Given the description of an element on the screen output the (x, y) to click on. 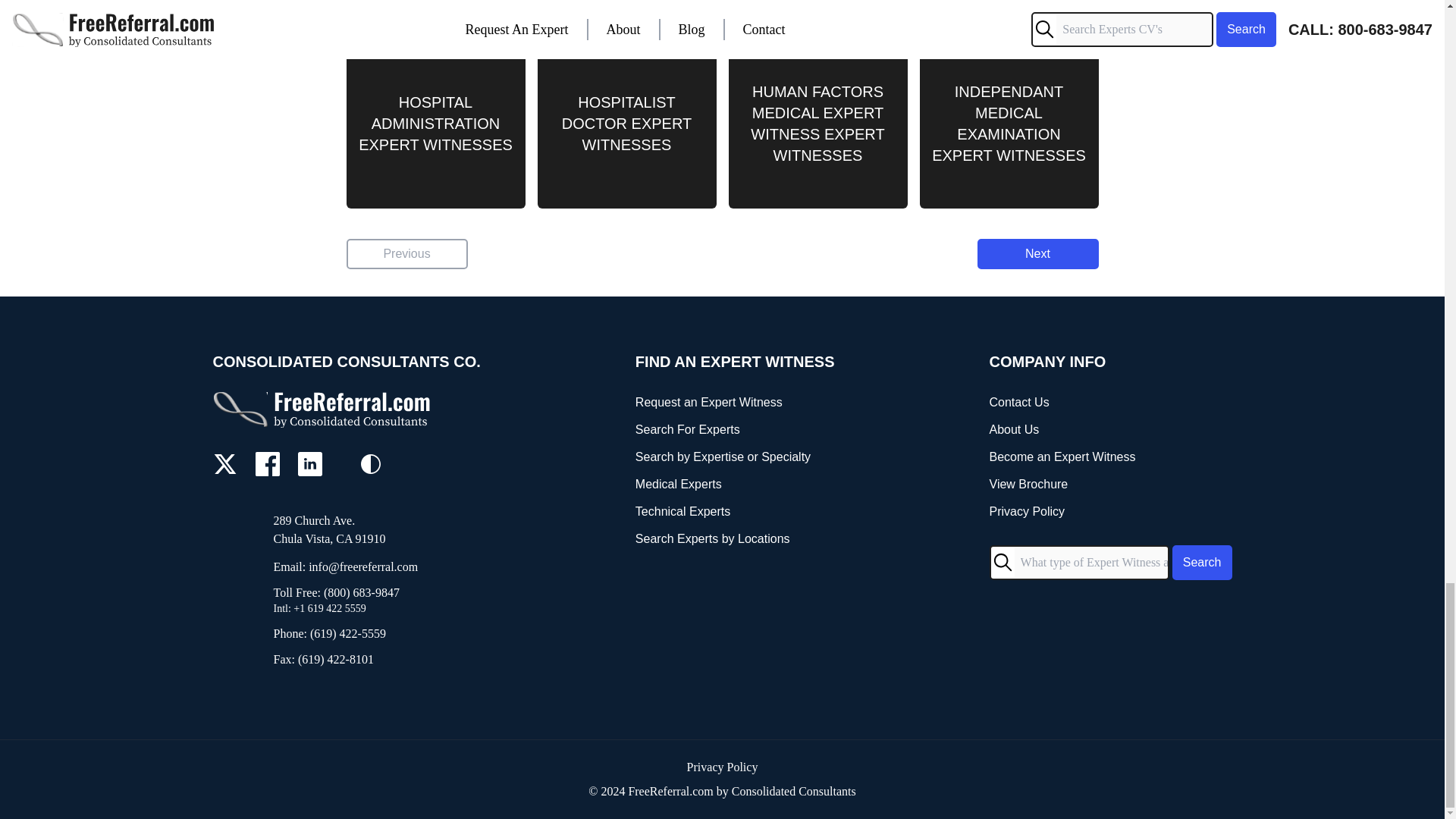
Light Free Referral Logo (322, 408)
E-mail us (376, 567)
Request an Expert Witness (734, 402)
Search For Experts (734, 429)
Call us anytime (376, 608)
This is our toll free number (376, 592)
This is our fax number (376, 659)
Call us anytime (376, 633)
Light Free Referral Logo (346, 408)
